Given the description of an element on the screen output the (x, y) to click on. 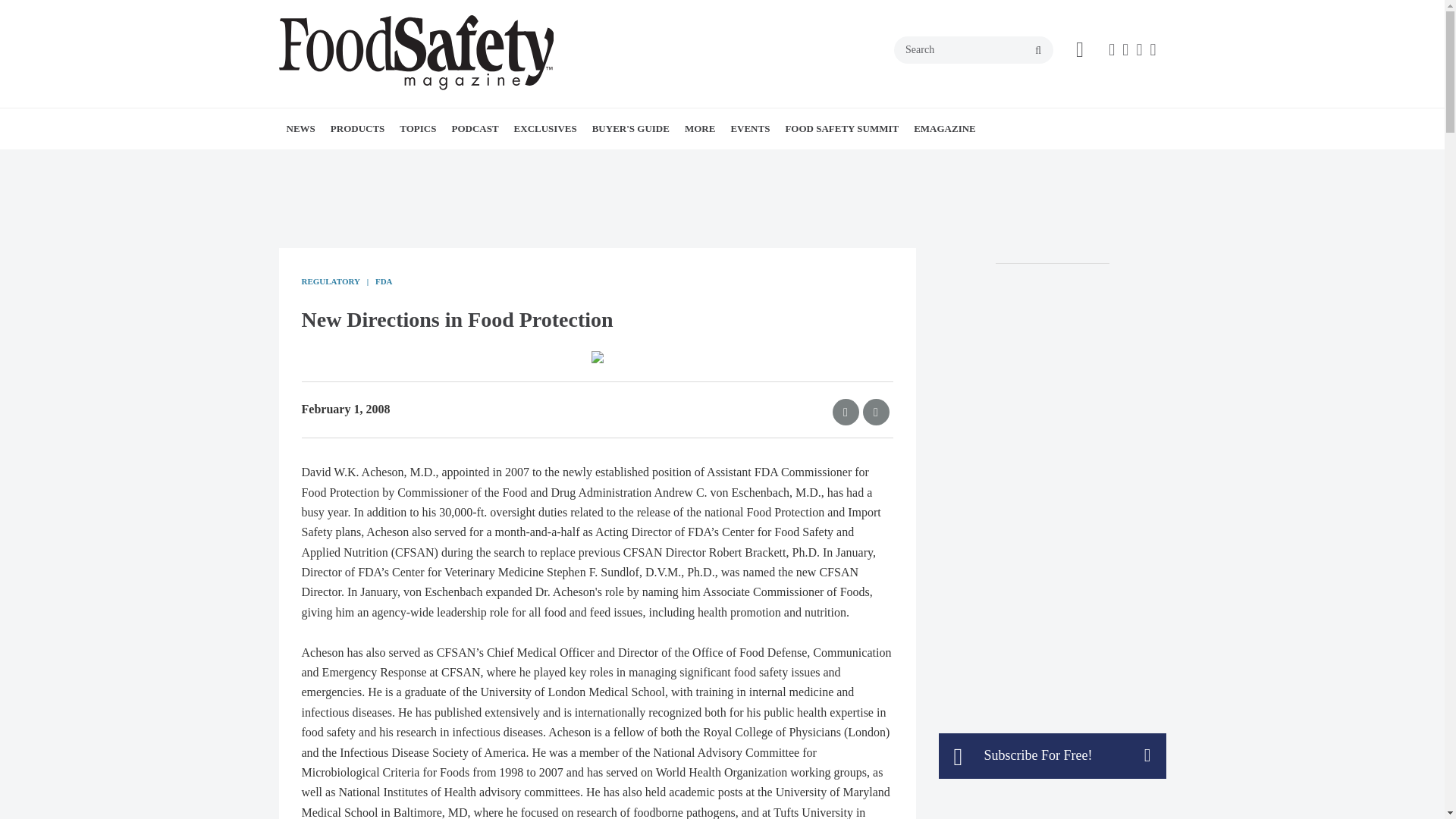
PRODUCTS (358, 128)
LATEST NEWS (373, 161)
EBOOKS (600, 161)
TOPICS (417, 128)
STORE (778, 161)
EXCLUSIVES (545, 128)
PODCAST (474, 128)
MANAGEMENT (500, 161)
WHITE PAPERS (380, 161)
Search (972, 49)
